Given the description of an element on the screen output the (x, y) to click on. 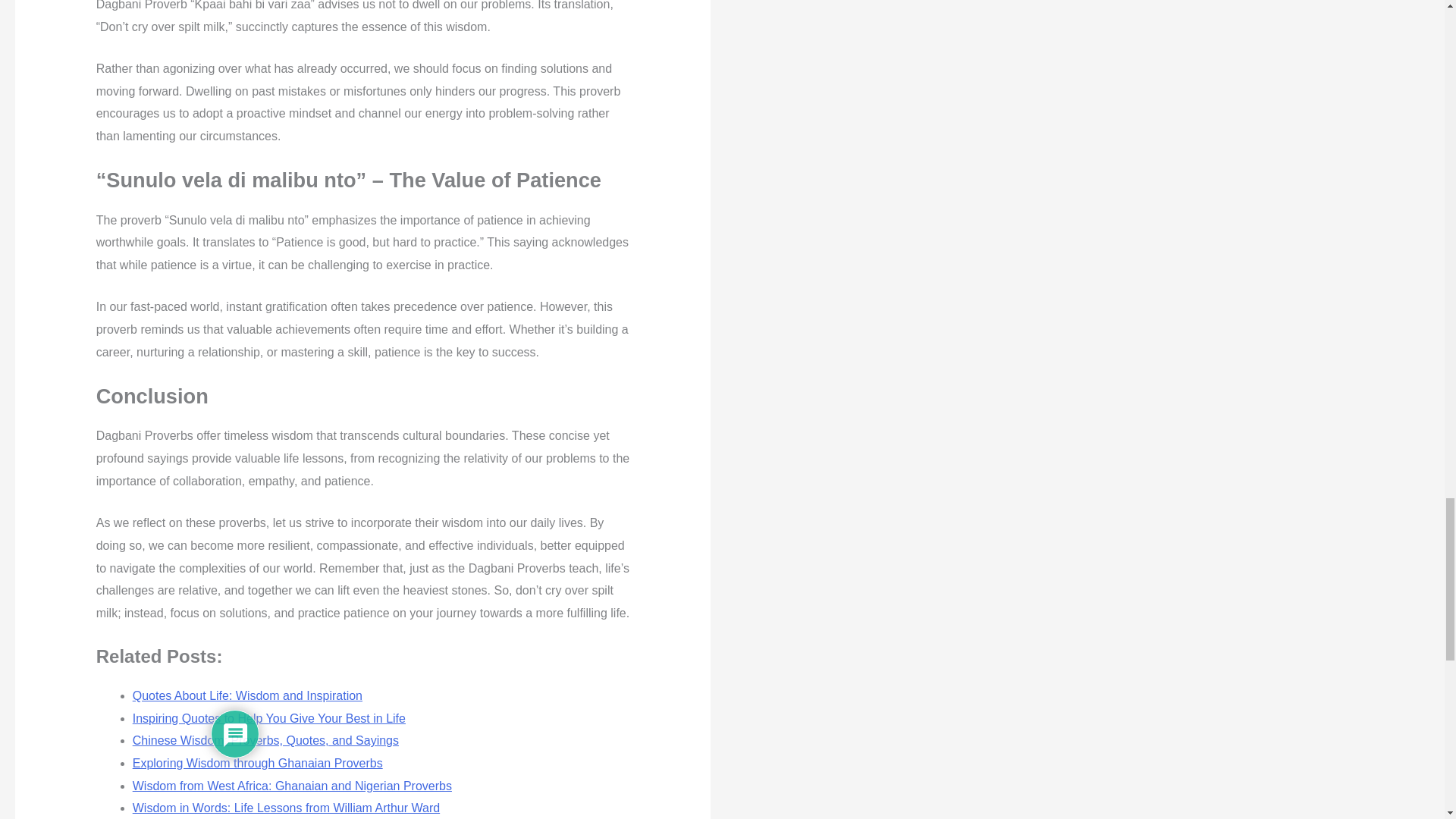
Inspiring Quotes to Help You Give Your Best in Life (269, 717)
Wisdom from West Africa: Ghanaian and Nigerian Proverbs (291, 785)
Wisdom in Words: Life Lessons from William Arthur Ward (285, 807)
Exploring Wisdom through Ghanaian Proverbs (257, 762)
Chinese Wisdom: Proverbs, Quotes, and Sayings (265, 739)
Quotes About Life: Wisdom and Inspiration (247, 695)
